Given the description of an element on the screen output the (x, y) to click on. 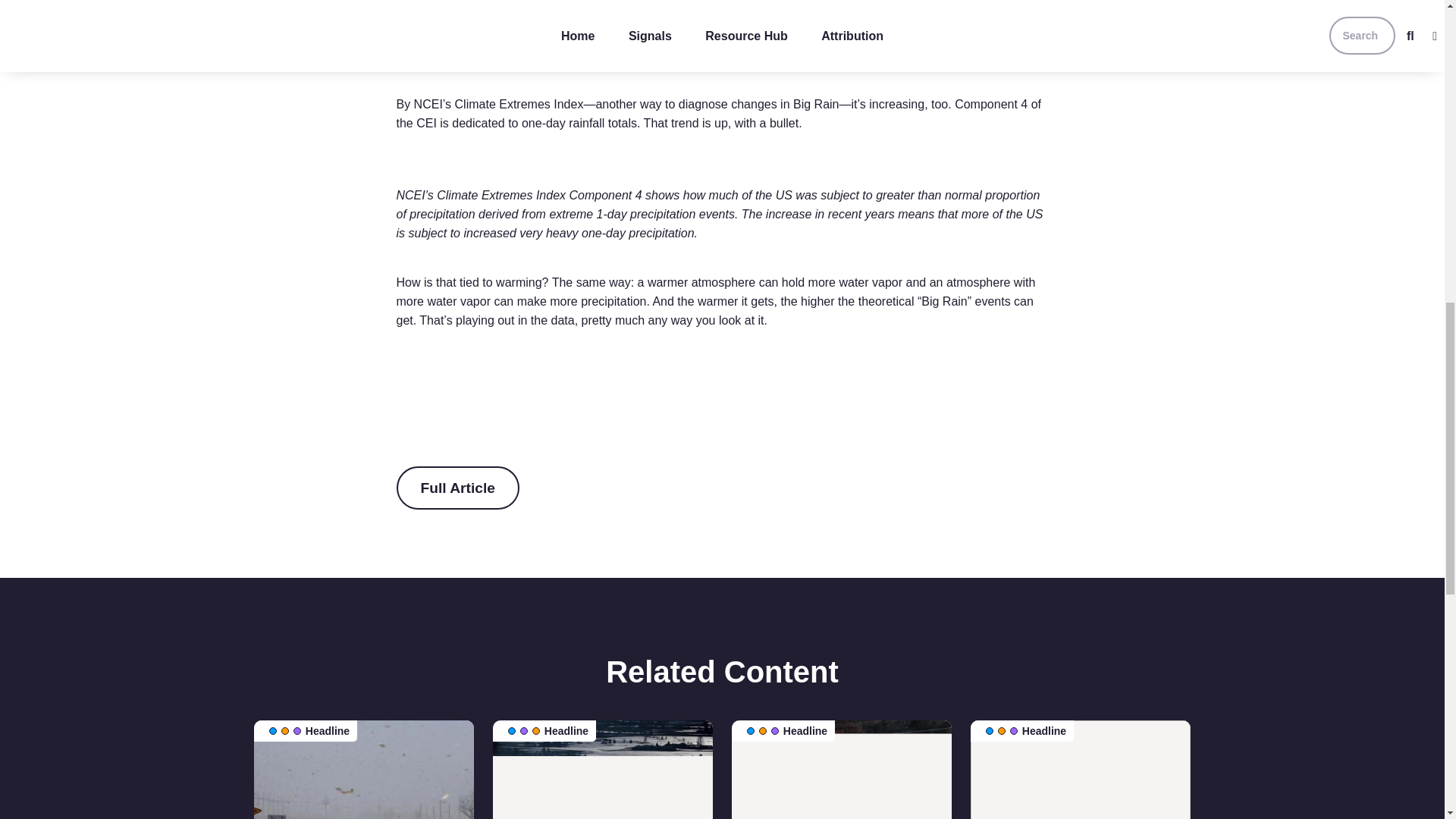
Full Article (460, 488)
Full Article (457, 487)
